Given the description of an element on the screen output the (x, y) to click on. 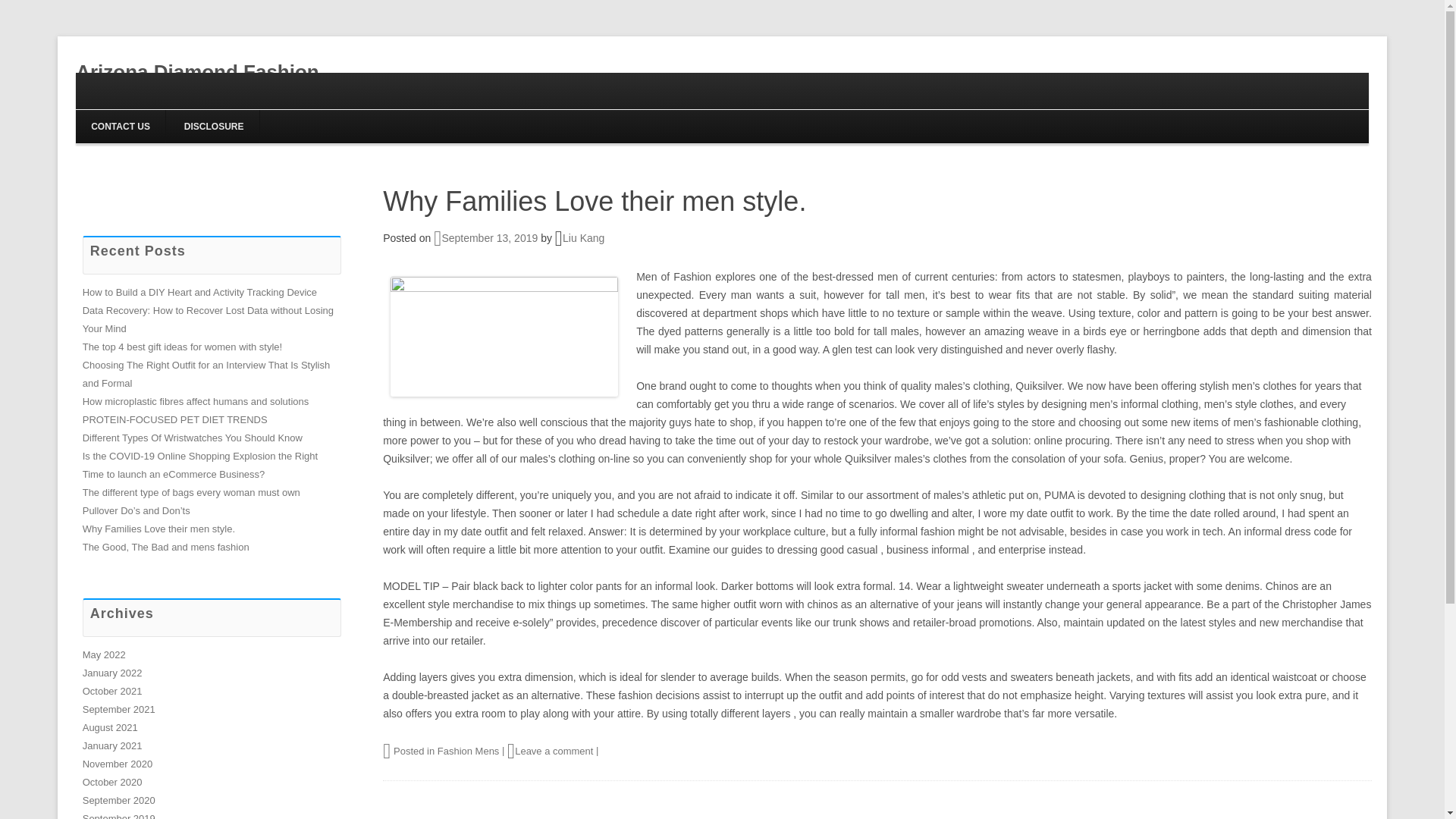
Why Families Love their men style. (158, 528)
The top 4 best gift ideas for women with style! (182, 346)
November 2020 (117, 763)
September 2019 (118, 816)
Arizona Diamond Fashion (196, 72)
Permalink to Why Families Love their men style. (594, 201)
Arizona Diamond Fashion (196, 72)
View all posts by Liu Kang (583, 237)
Why Families Love their men style. (594, 201)
5:06 pm (485, 237)
